Given the description of an element on the screen output the (x, y) to click on. 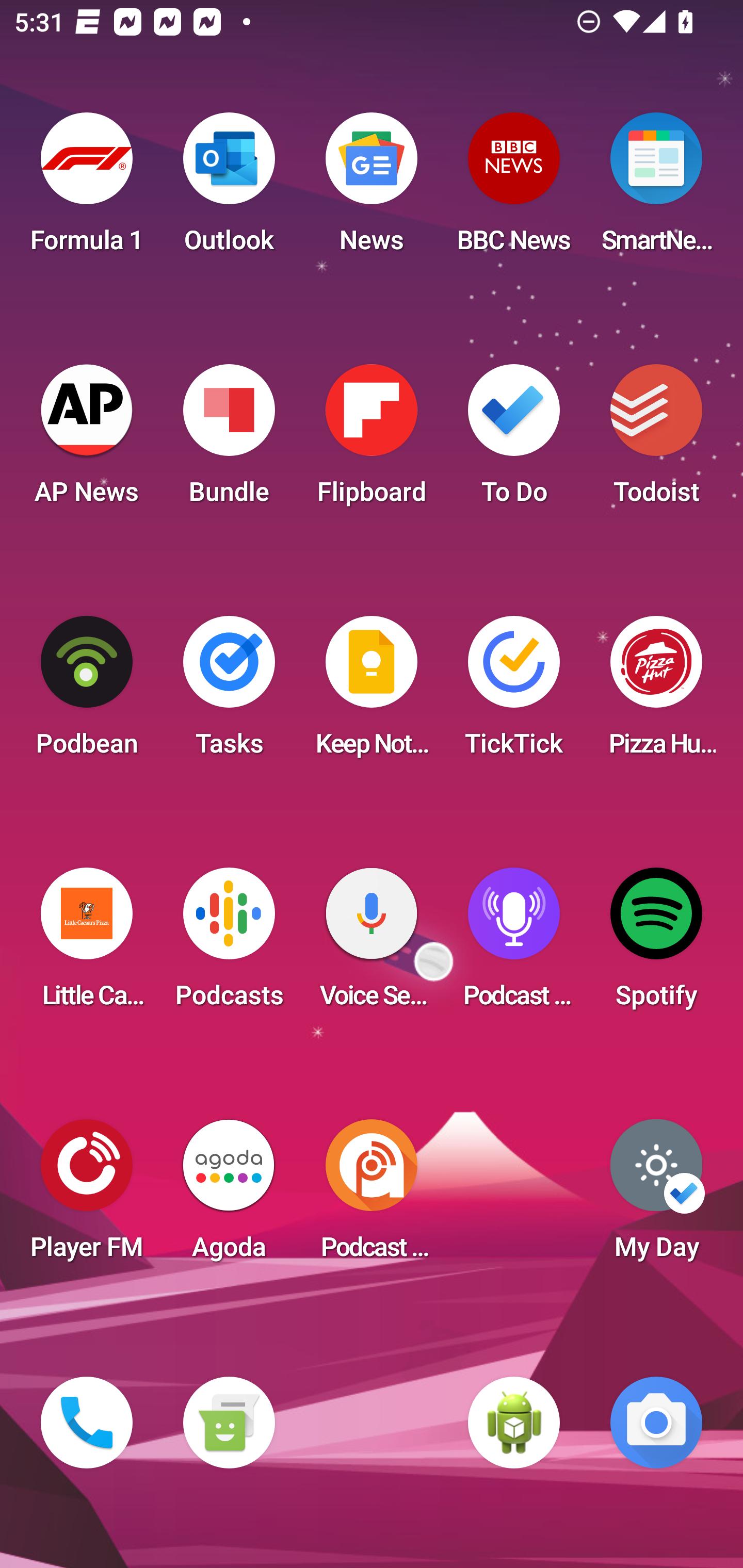
Formula 1 (86, 188)
Outlook (228, 188)
News (371, 188)
BBC News (513, 188)
SmartNews (656, 188)
AP News (86, 440)
Bundle (228, 440)
Flipboard (371, 440)
To Do (513, 440)
Todoist (656, 440)
Podbean (86, 692)
Tasks (228, 692)
Keep Notes (371, 692)
TickTick (513, 692)
Pizza Hut HK & Macau (656, 692)
Little Caesars Pizza (86, 943)
Podcasts (228, 943)
Voice Search (371, 943)
Podcast Player (513, 943)
Spotify (656, 943)
Player FM (86, 1195)
Agoda (228, 1195)
Podcast Addict (371, 1195)
My Day (656, 1195)
Phone (86, 1422)
Messaging (228, 1422)
WebView Browser Tester (513, 1422)
Camera (656, 1422)
